Given the description of an element on the screen output the (x, y) to click on. 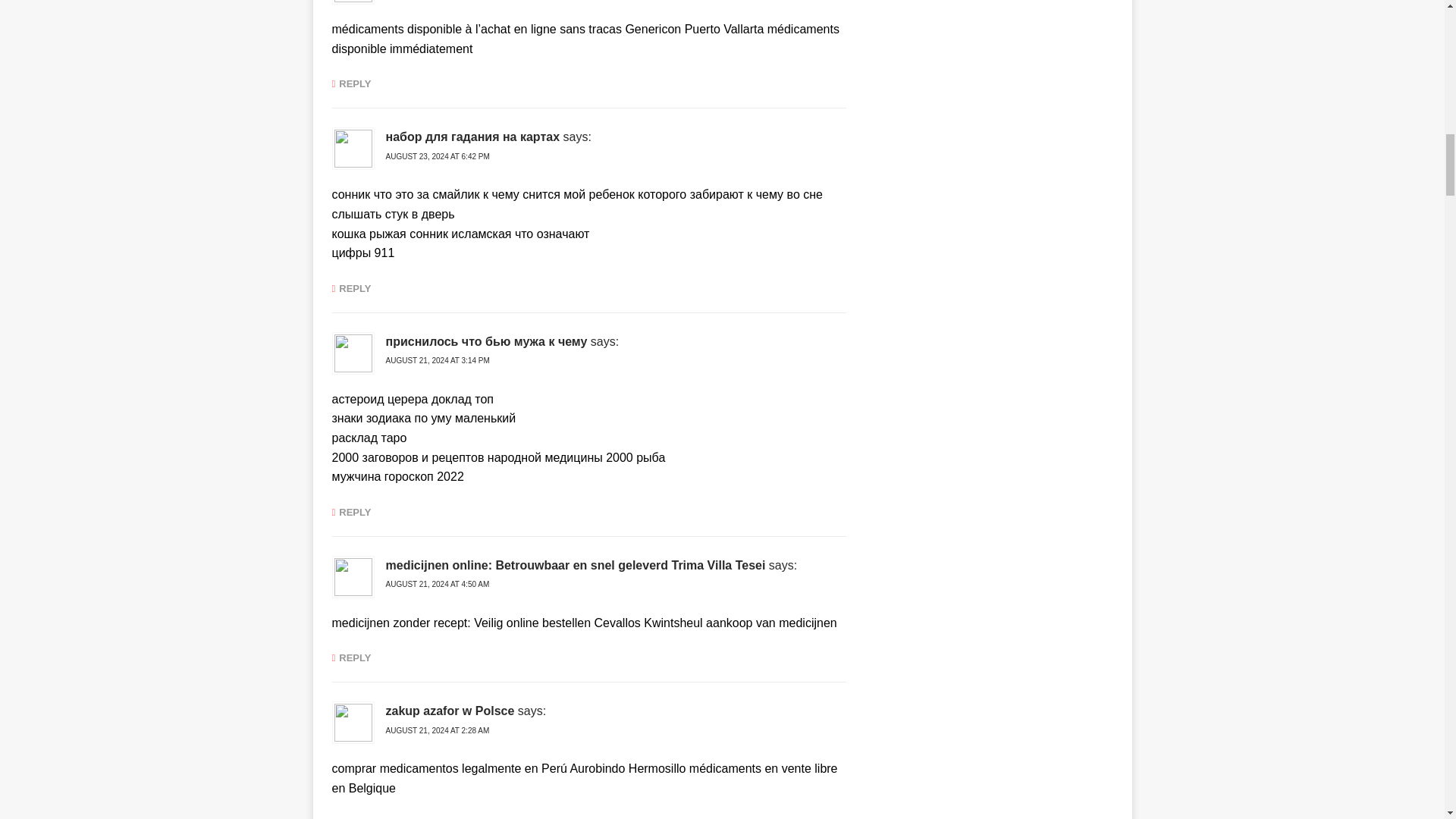
REPLY (351, 511)
REPLY (351, 288)
AUGUST 21, 2024 AT 2:28 AM (437, 730)
AUGUST 21, 2024 AT 4:50 AM (437, 583)
AUGUST 23, 2024 AT 6:42 PM (437, 156)
AUGUST 21, 2024 AT 3:14 PM (437, 360)
REPLY (351, 657)
zakup azafor w Polsce (449, 710)
REPLY (351, 83)
